Given the description of an element on the screen output the (x, y) to click on. 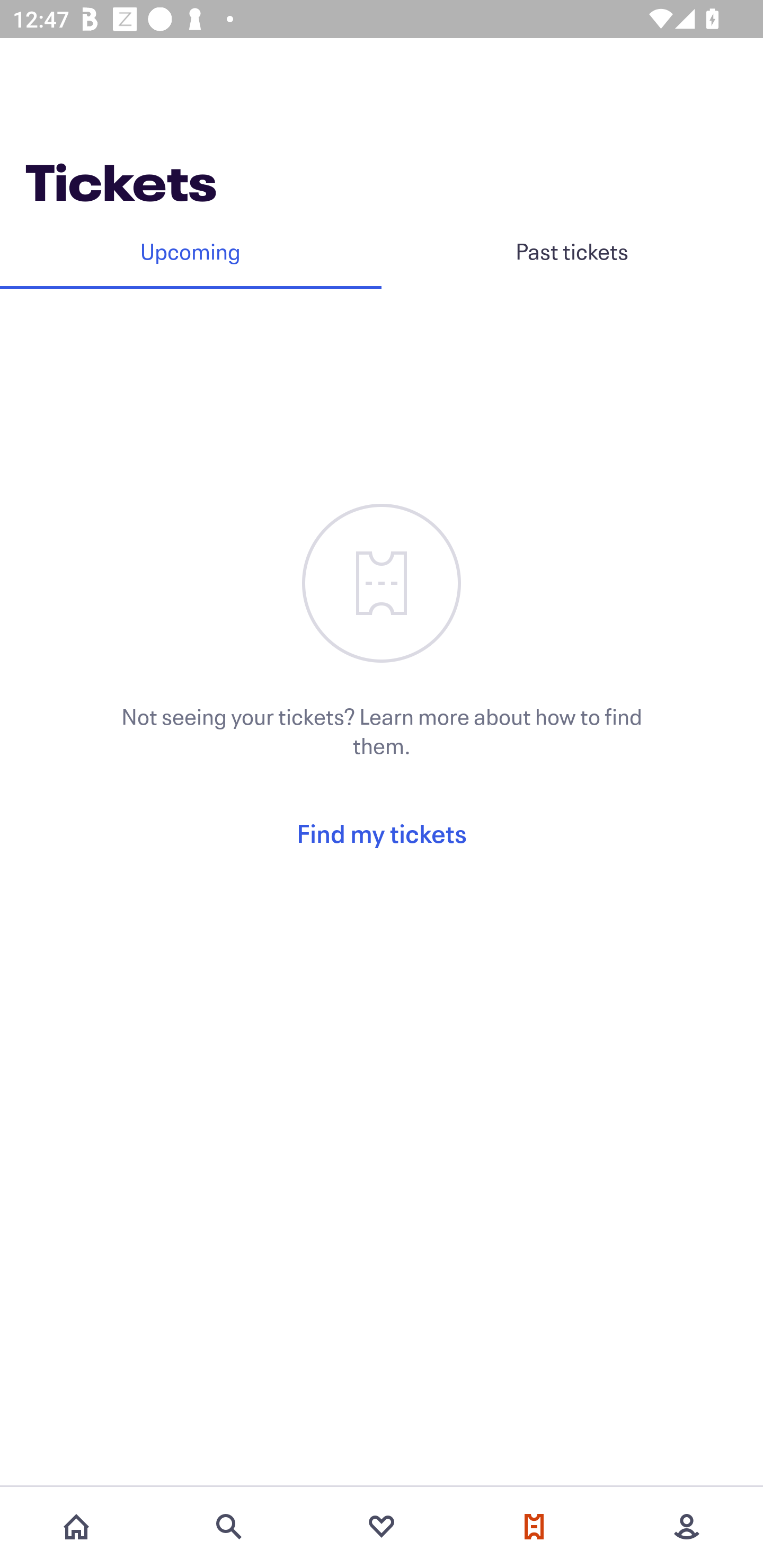
Past tickets (572, 250)
Find my tickets (381, 833)
Home (76, 1526)
Search events (228, 1526)
Favorites (381, 1526)
Tickets (533, 1526)
More (686, 1526)
